Given the description of an element on the screen output the (x, y) to click on. 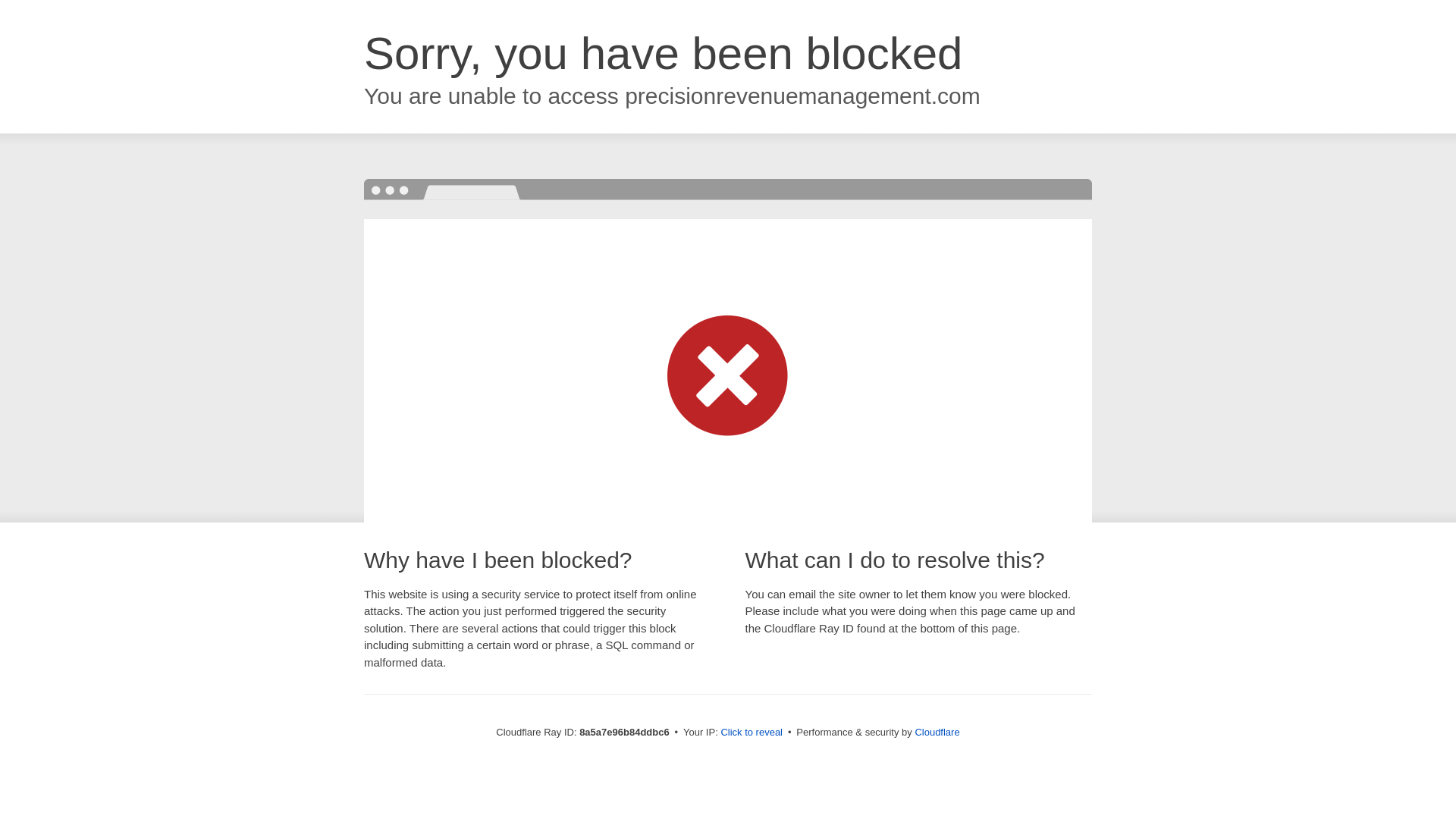
Click to reveal (751, 732)
Cloudflare (936, 731)
